Given the description of an element on the screen output the (x, y) to click on. 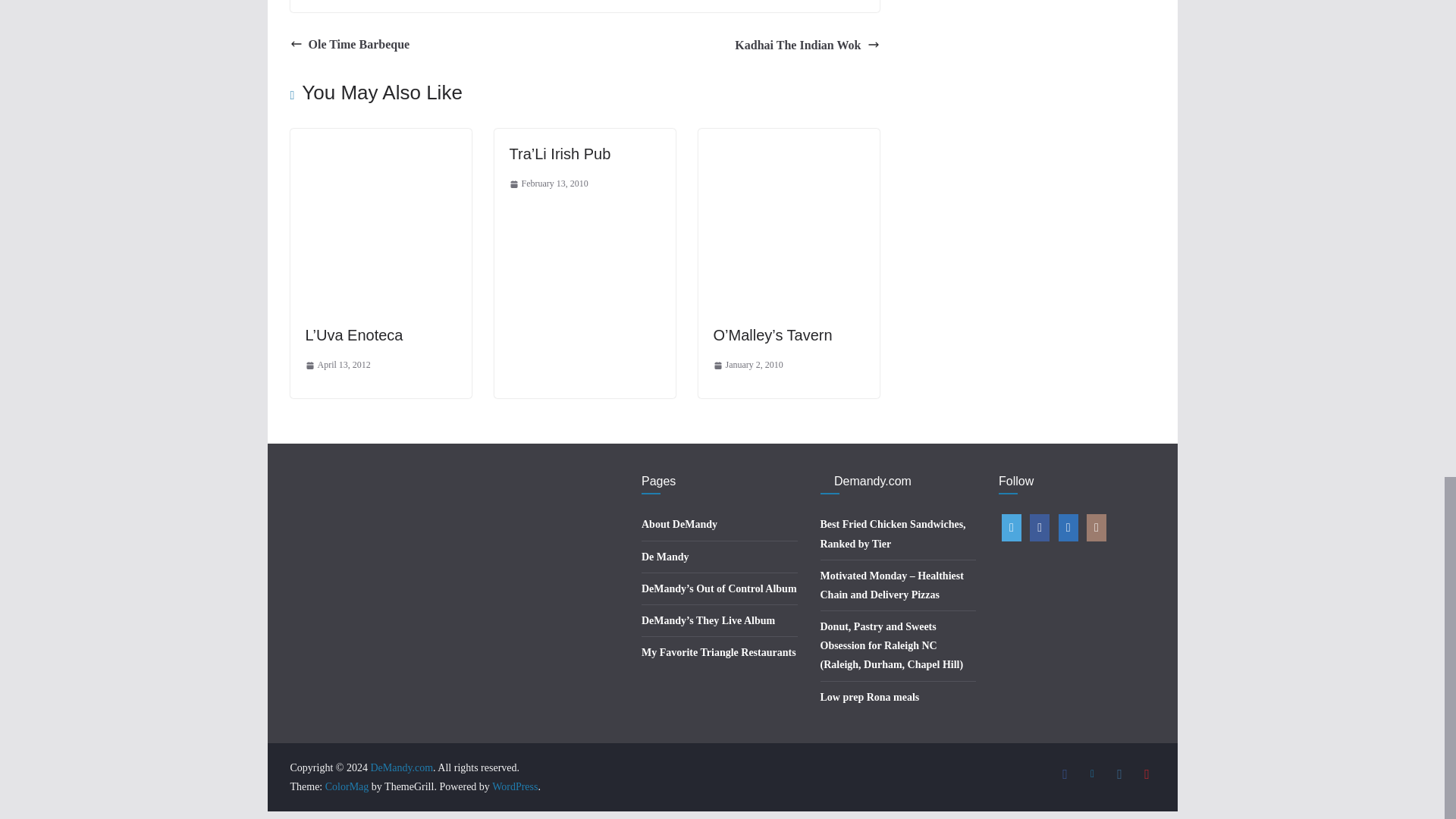
10:26 PM (336, 365)
Ole Time Barbeque (349, 44)
3:50 PM (748, 365)
Kadhai The Indian Wok (807, 45)
9:30 PM (548, 184)
